Given the description of an element on the screen output the (x, y) to click on. 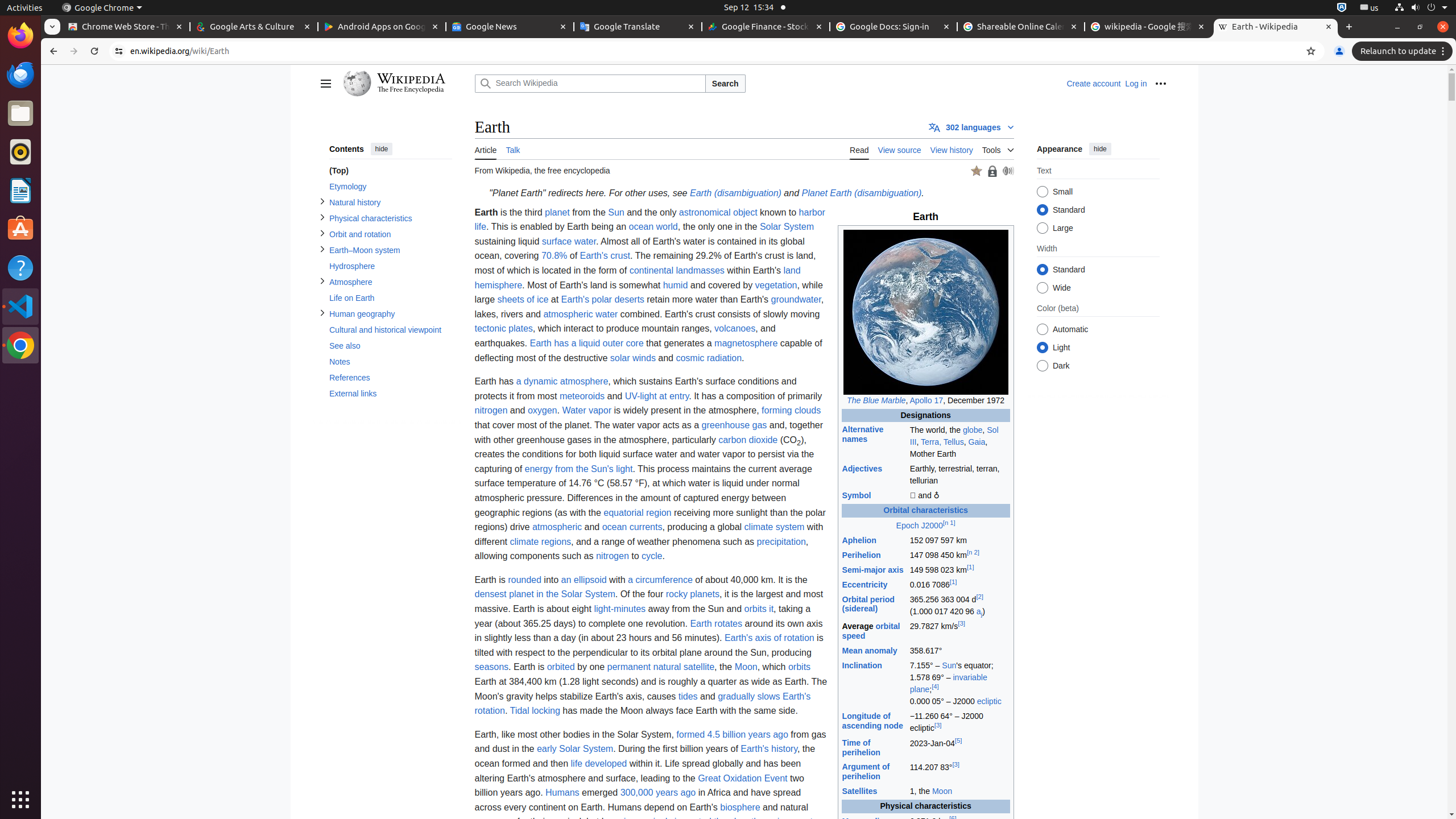
Automatic Element type: radio-button (1042, 329)
365.256363004 d[2] (1.00001742096 aj) Element type: table-cell (959, 605)
Google Arts & Culture - Memory usage - 64.0 MB Element type: page-tab (253, 26)
formed 4.5 billion years ago Element type: link (732, 734)
Tools Element type: push-button (997, 148)
